Given the description of an element on the screen output the (x, y) to click on. 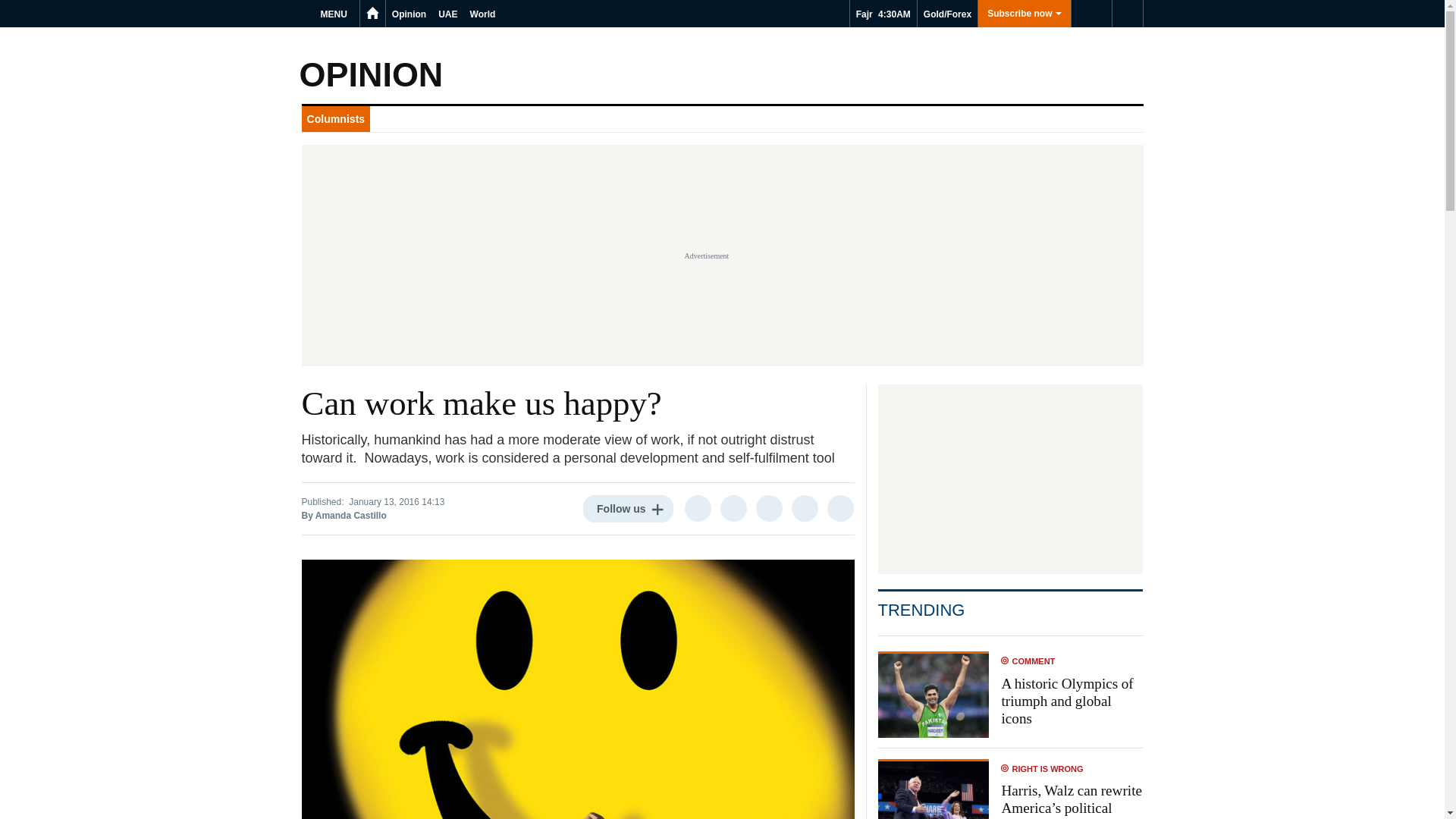
Fajr 4:30AM (883, 13)
UAE (447, 13)
Subscribe now (1024, 13)
World (483, 13)
Opinion (408, 13)
MENU (336, 13)
